Given the description of an element on the screen output the (x, y) to click on. 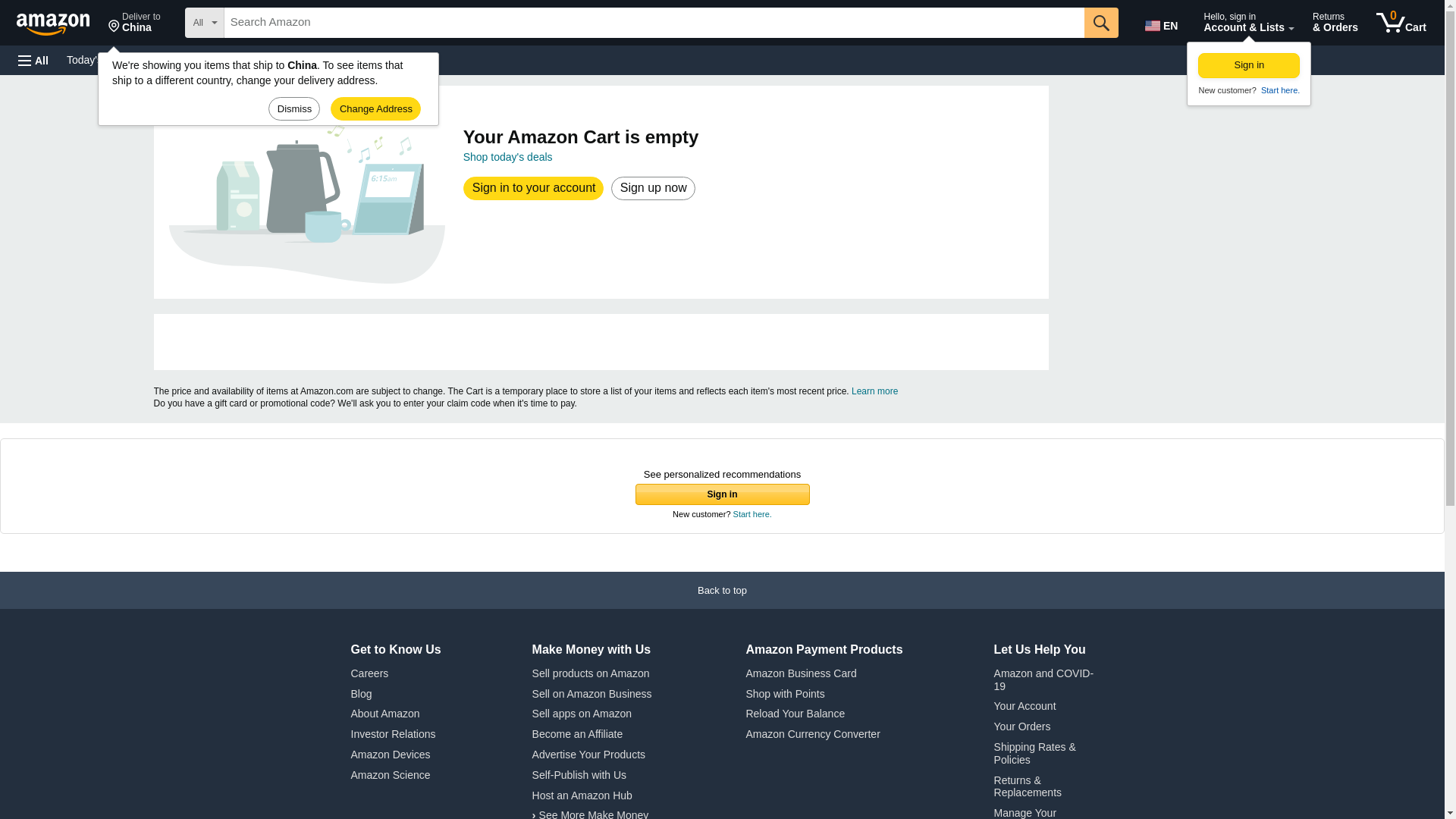
Gift Cards (333, 59)
EN (1401, 22)
Go (1163, 22)
Start here. (1101, 22)
Sign in to your account (1279, 90)
All (534, 188)
Registry (33, 60)
Customer Service (272, 59)
Today's Deals (192, 59)
